Given the description of an element on the screen output the (x, y) to click on. 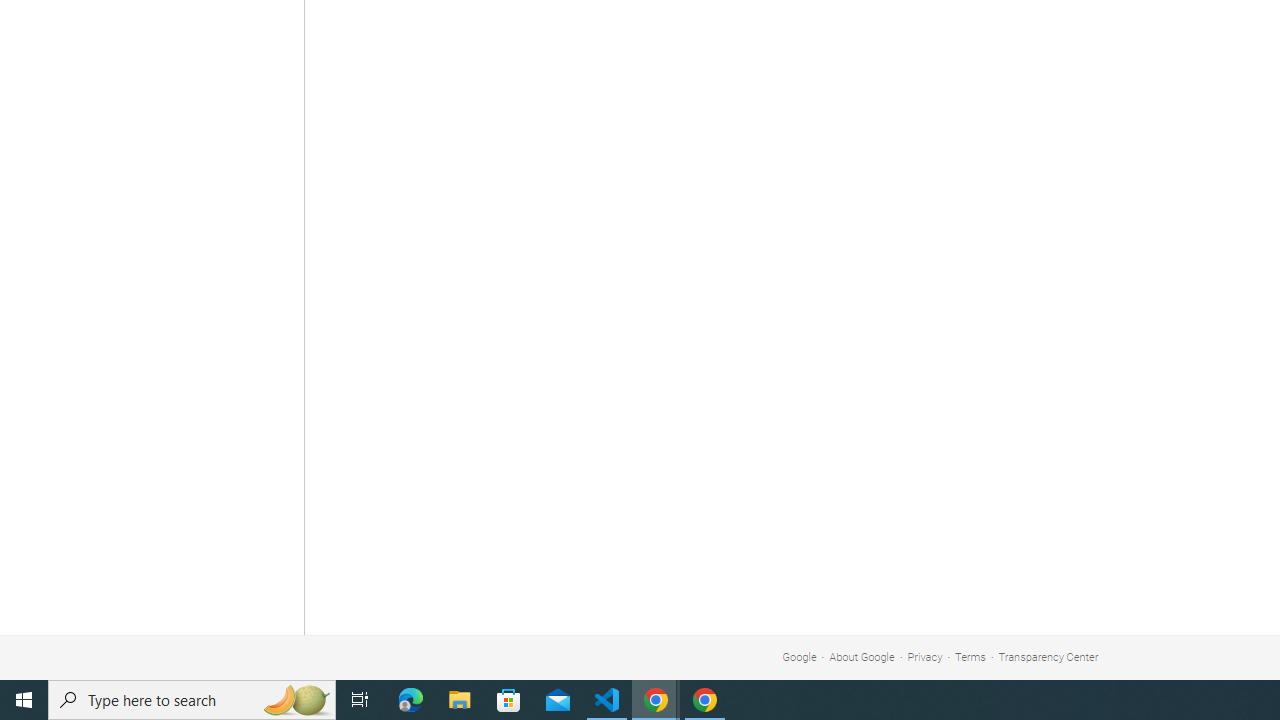
Transparency Center (1048, 656)
About Google (861, 656)
